Given the description of an element on the screen output the (x, y) to click on. 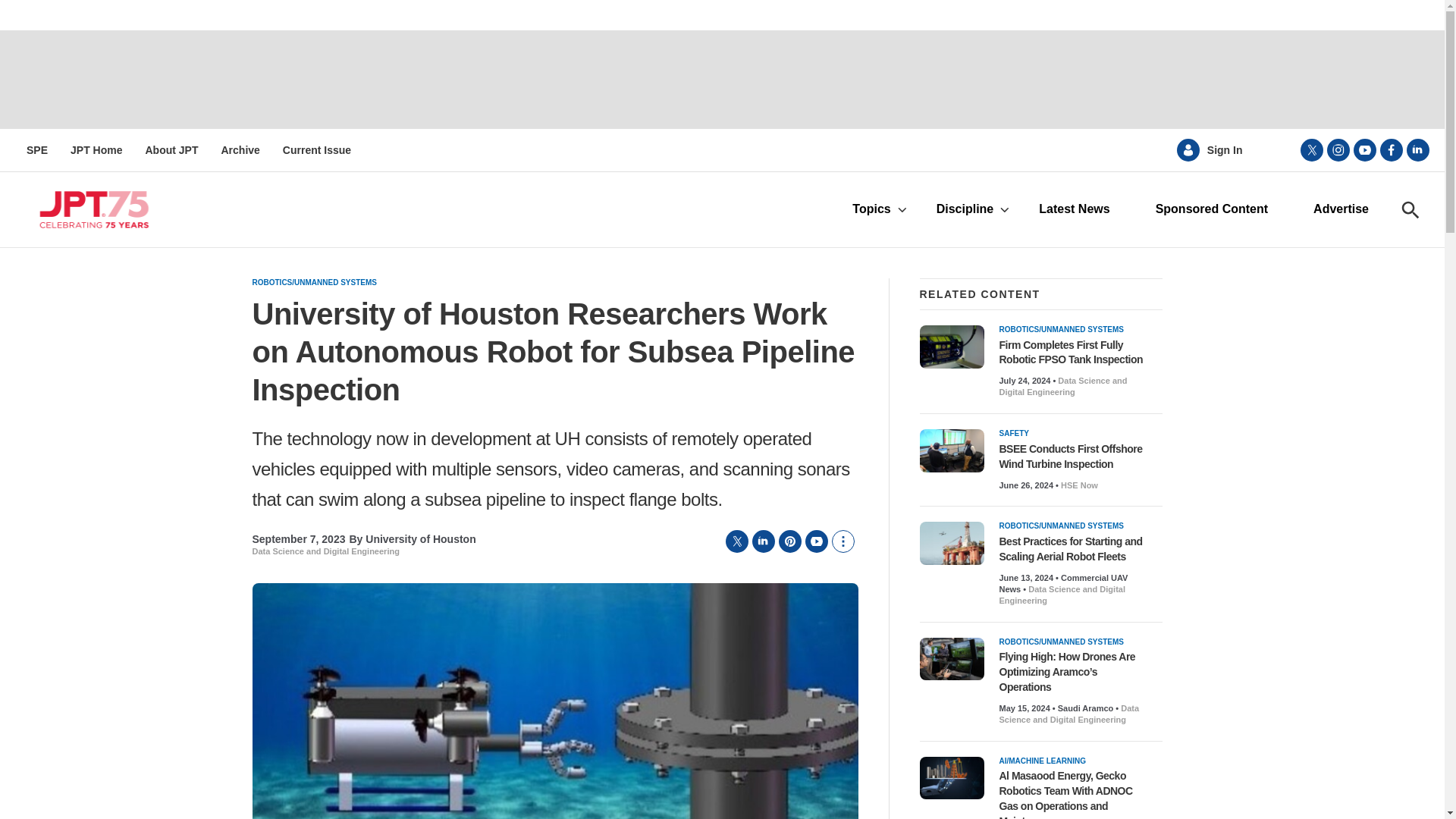
Current Issue (316, 150)
twitter (1311, 149)
SPE (37, 150)
Sign In (1225, 150)
3rd party ad content (721, 79)
instagram (1337, 149)
youtube (1364, 149)
Archive (240, 150)
About JPT (171, 150)
facebook (1391, 149)
linkedin (1417, 149)
JPT Home (95, 150)
